Given the description of an element on the screen output the (x, y) to click on. 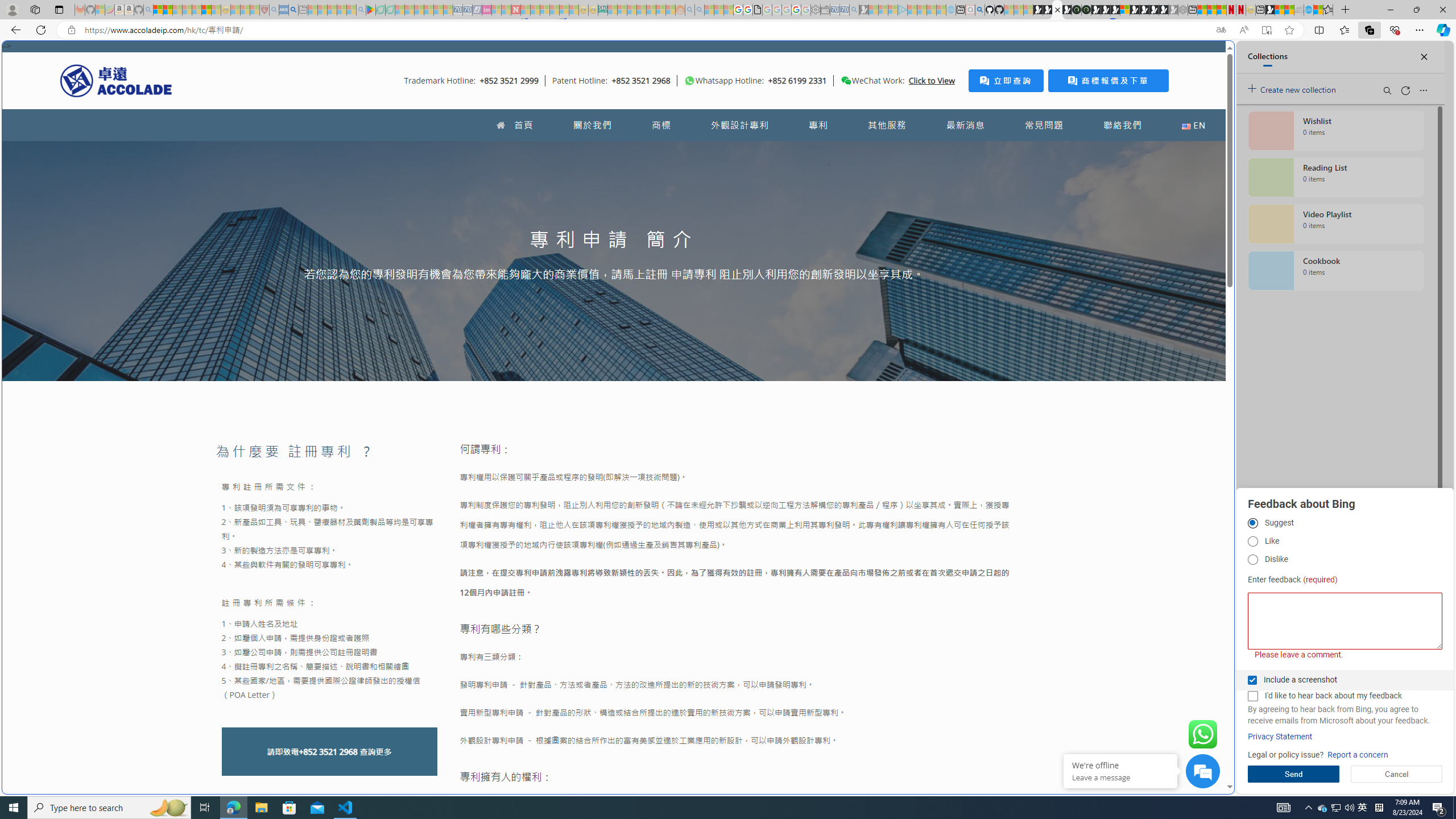
google_privacy_policy_zh-CN.pdf (1118, 683)
Accolade IP HK Logo (116, 80)
World - MSN (1279, 9)
Close split screen (1208, 57)
Terms of Use Agreement - Sleeping (380, 9)
